Given the description of an element on the screen output the (x, y) to click on. 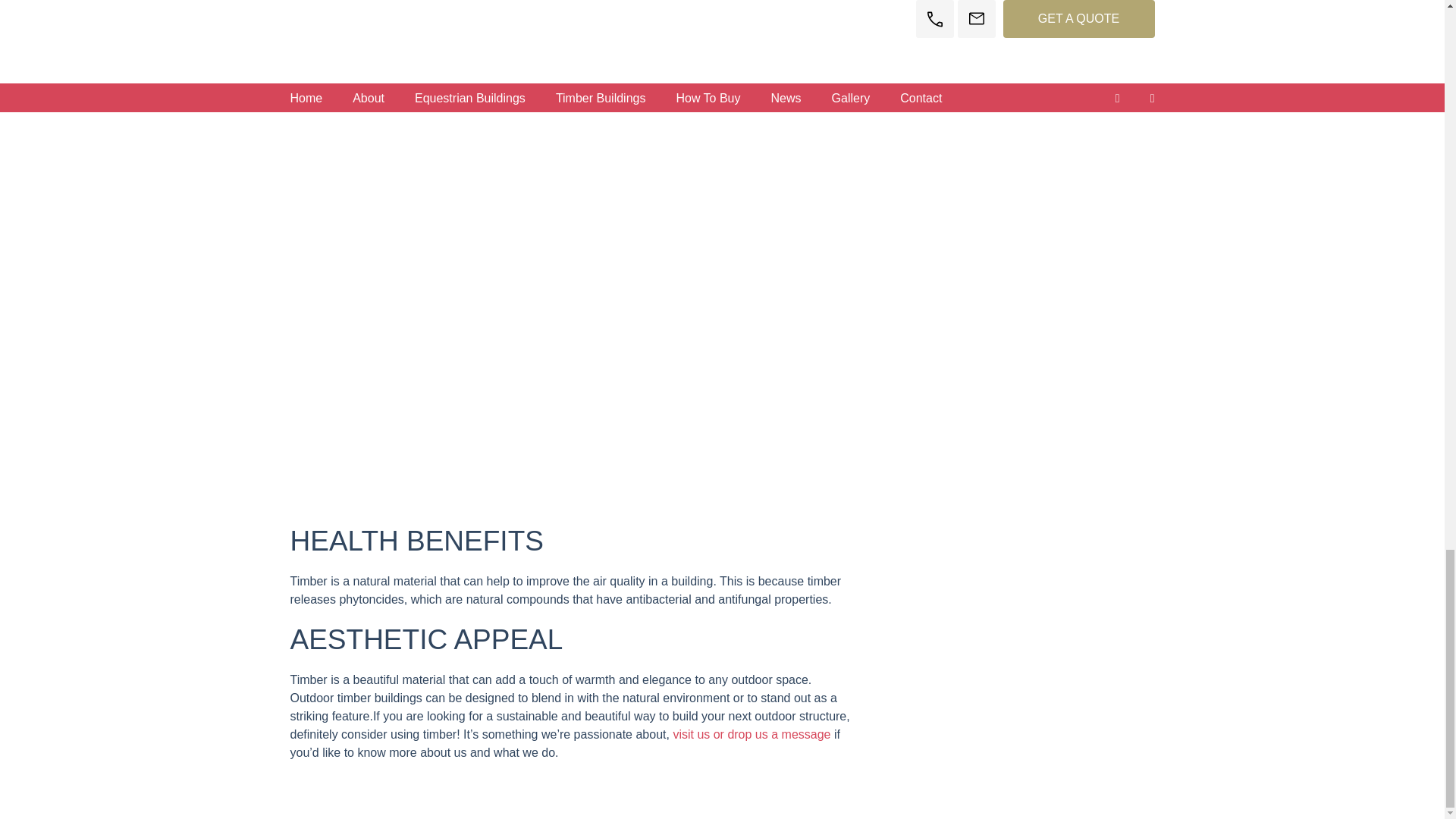
visit us or drop us a message (750, 734)
